Given the description of an element on the screen output the (x, y) to click on. 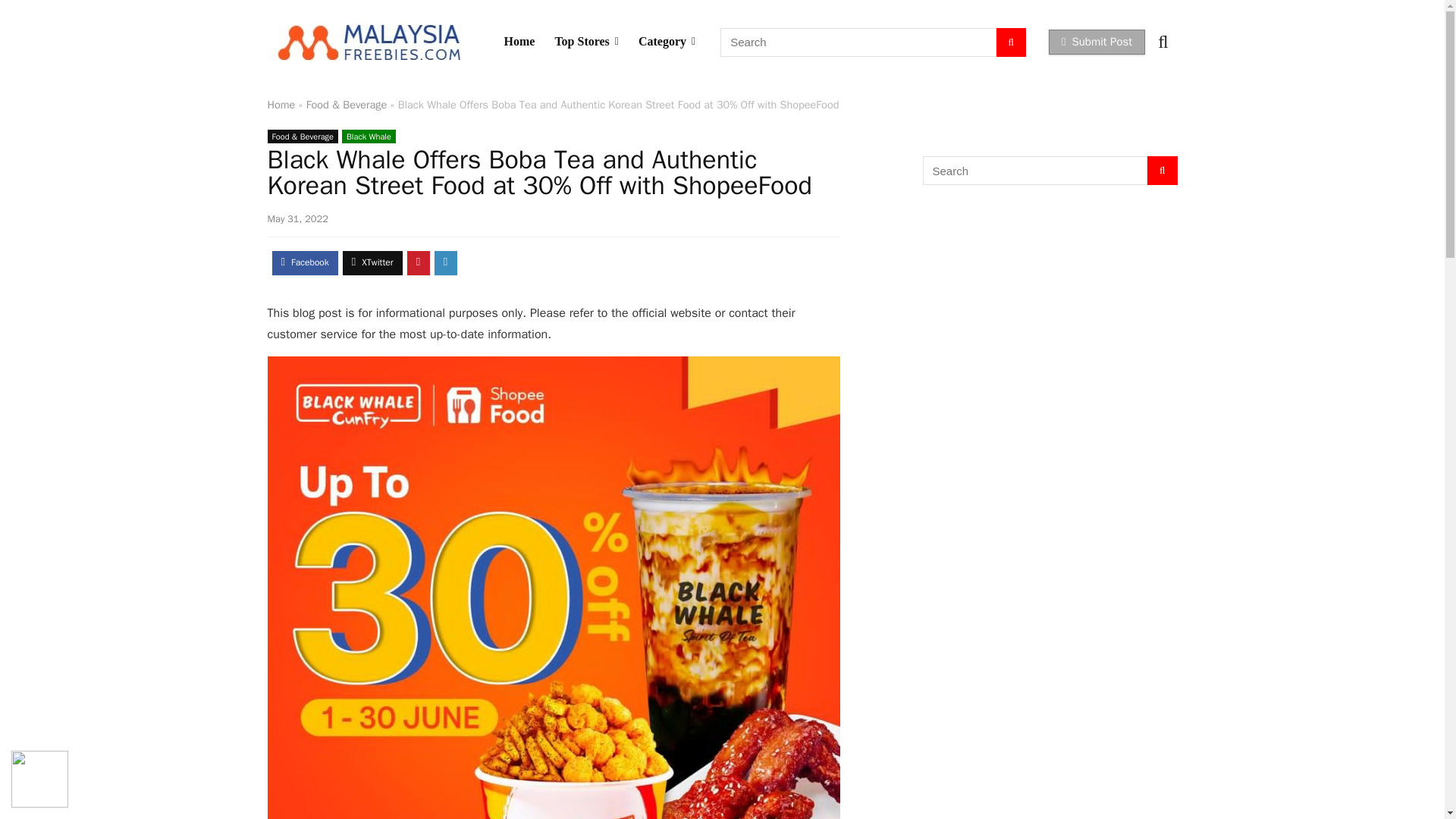
Home (280, 104)
Submit Post (1096, 41)
View all posts in Black Whale (369, 136)
Home (519, 41)
Black Whale (369, 136)
Category (666, 41)
Top Stores (586, 41)
